Given the description of an element on the screen output the (x, y) to click on. 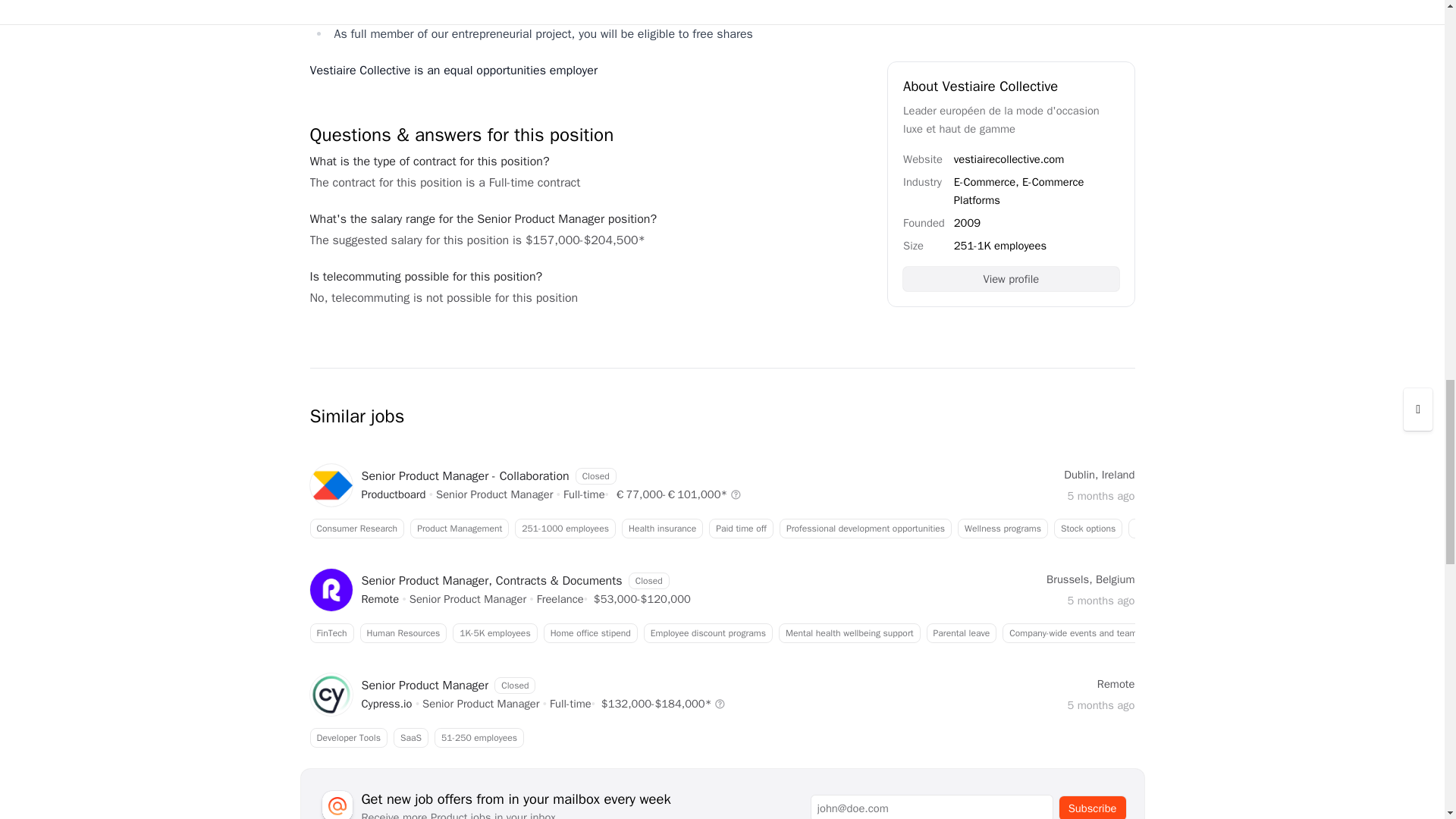
Senior Product Manager jobs at Productboard (393, 494)
Senior Product Manager jobs at Cypress.io (386, 703)
Senior Product Manager jobs (467, 599)
Senior Product Manager jobs at Remote (721, 737)
Senior Product Manager jobs (379, 599)
Senior Product Manager jobs (480, 703)
